Given the description of an element on the screen output the (x, y) to click on. 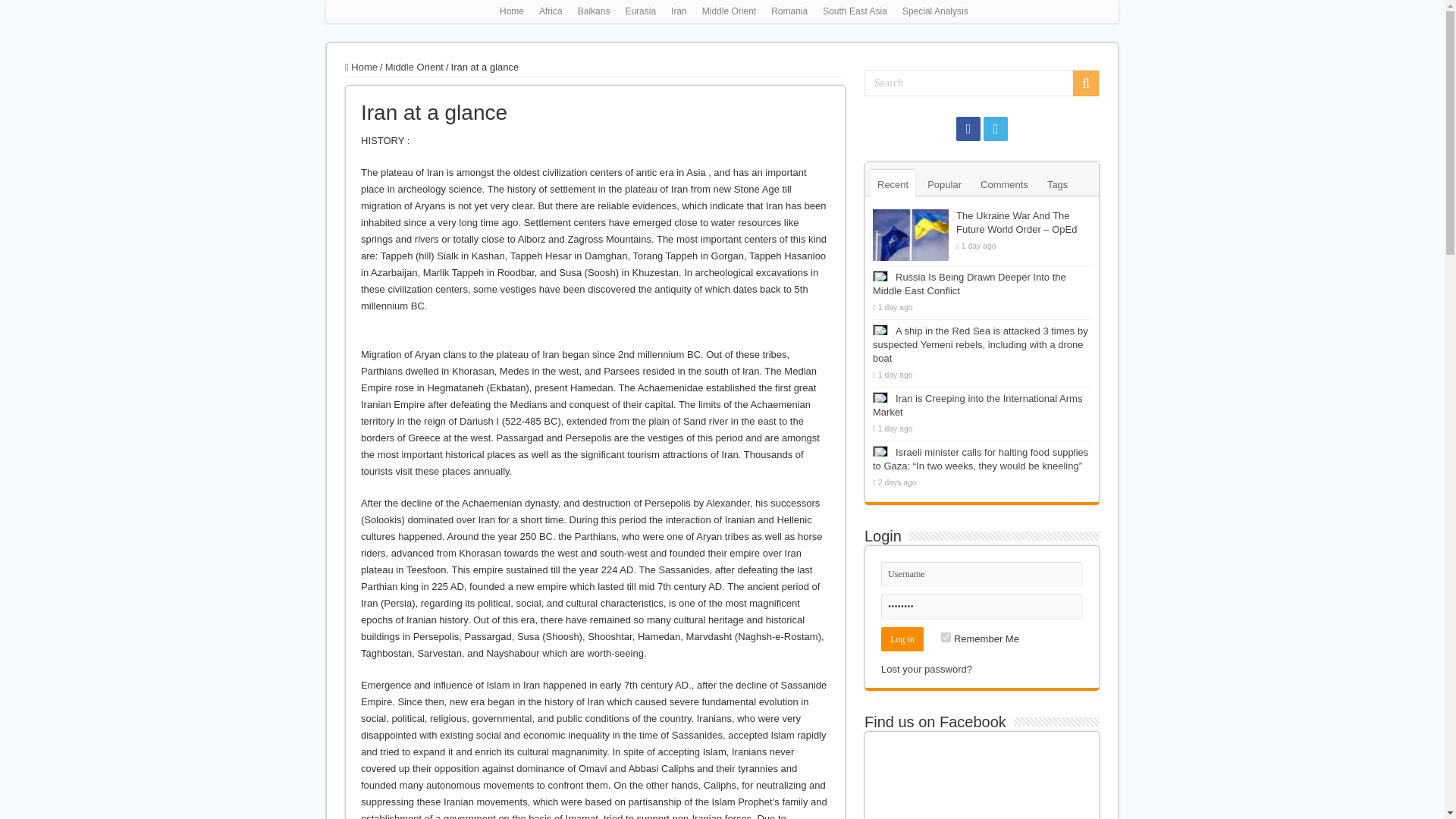
Eurasia (640, 11)
Popular (944, 183)
South East Asia (855, 11)
Log in (901, 639)
Home (511, 11)
Username (981, 574)
Facebook (967, 128)
Iran (678, 11)
Romania (788, 11)
Africa (550, 11)
